Given the description of an element on the screen output the (x, y) to click on. 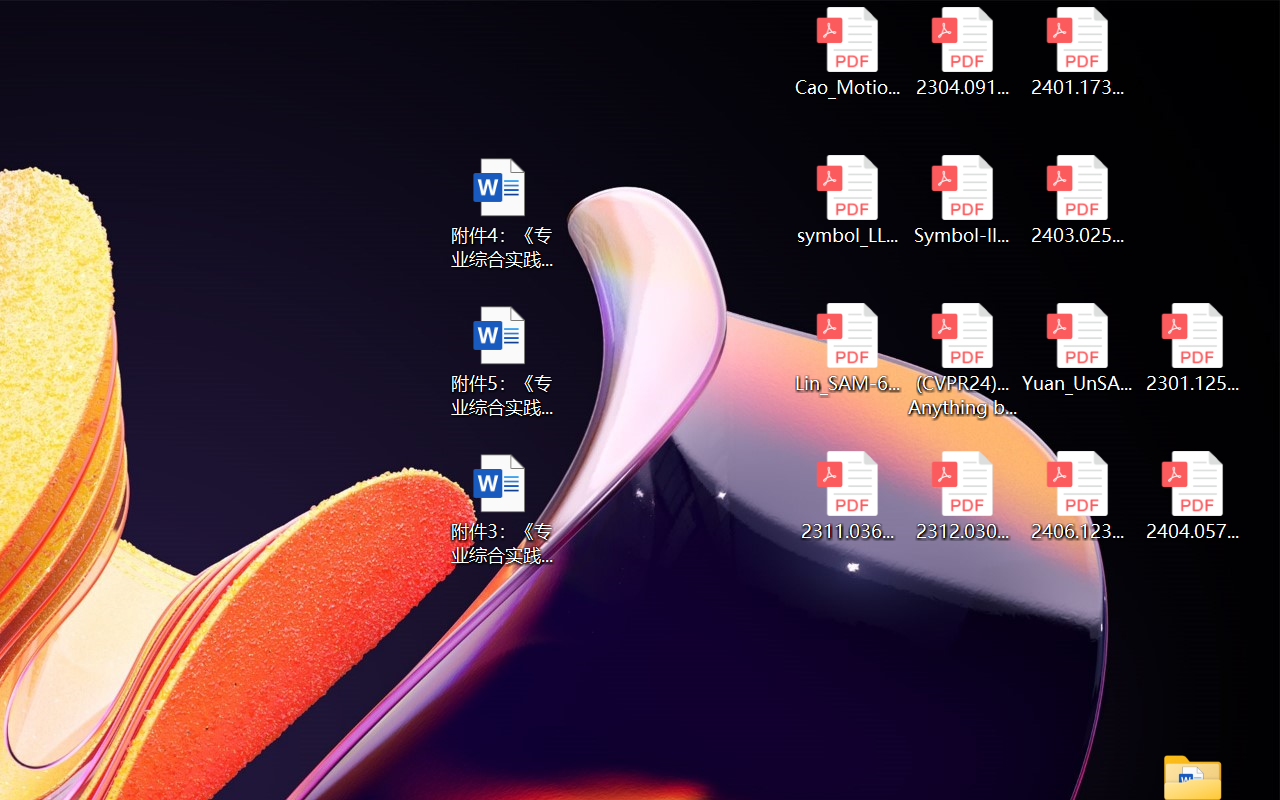
2403.02502v1.pdf (1077, 200)
